Given the description of an element on the screen output the (x, y) to click on. 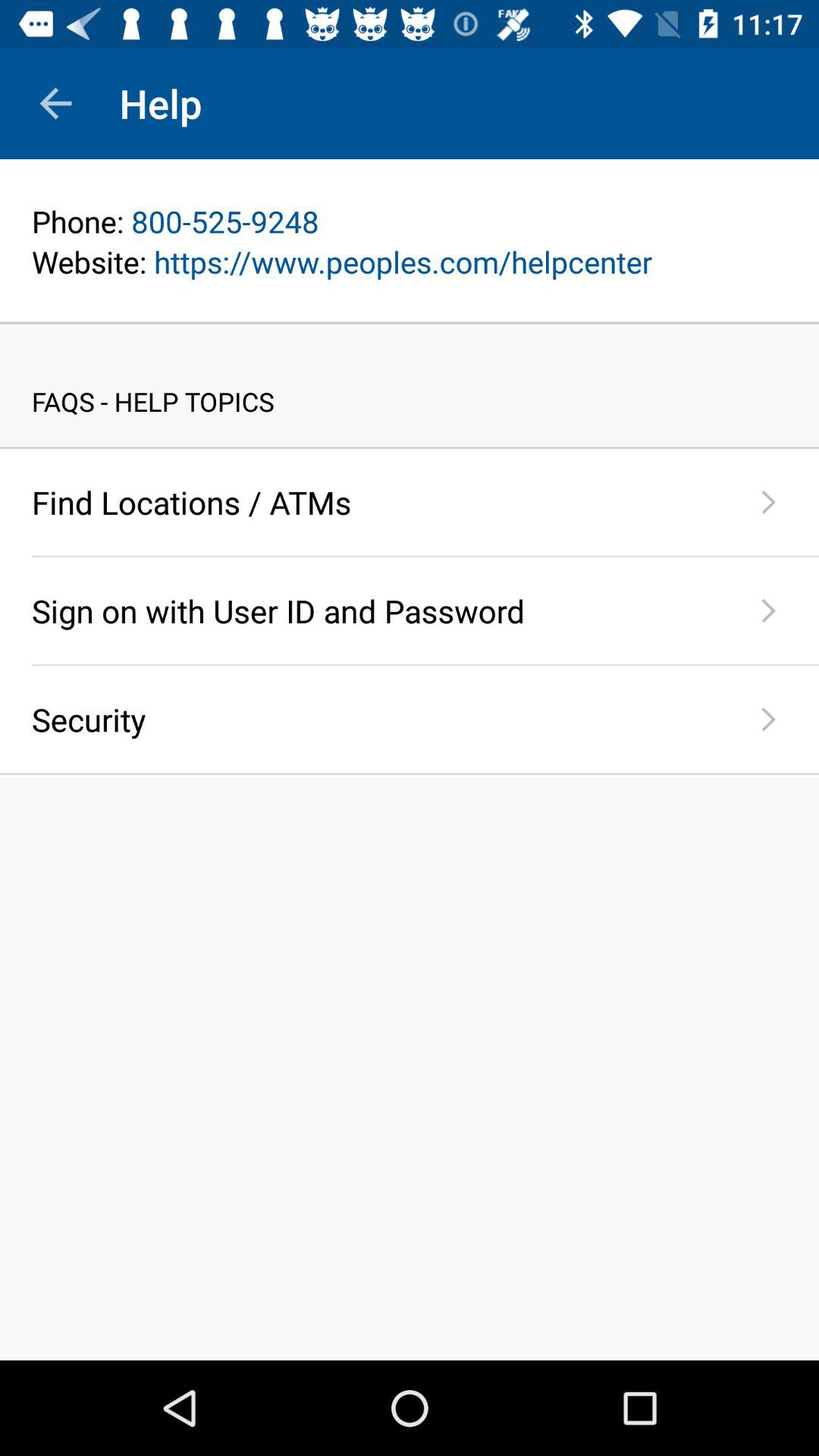
turn on the app below the phone 800 525 icon (409, 261)
